Given the description of an element on the screen output the (x, y) to click on. 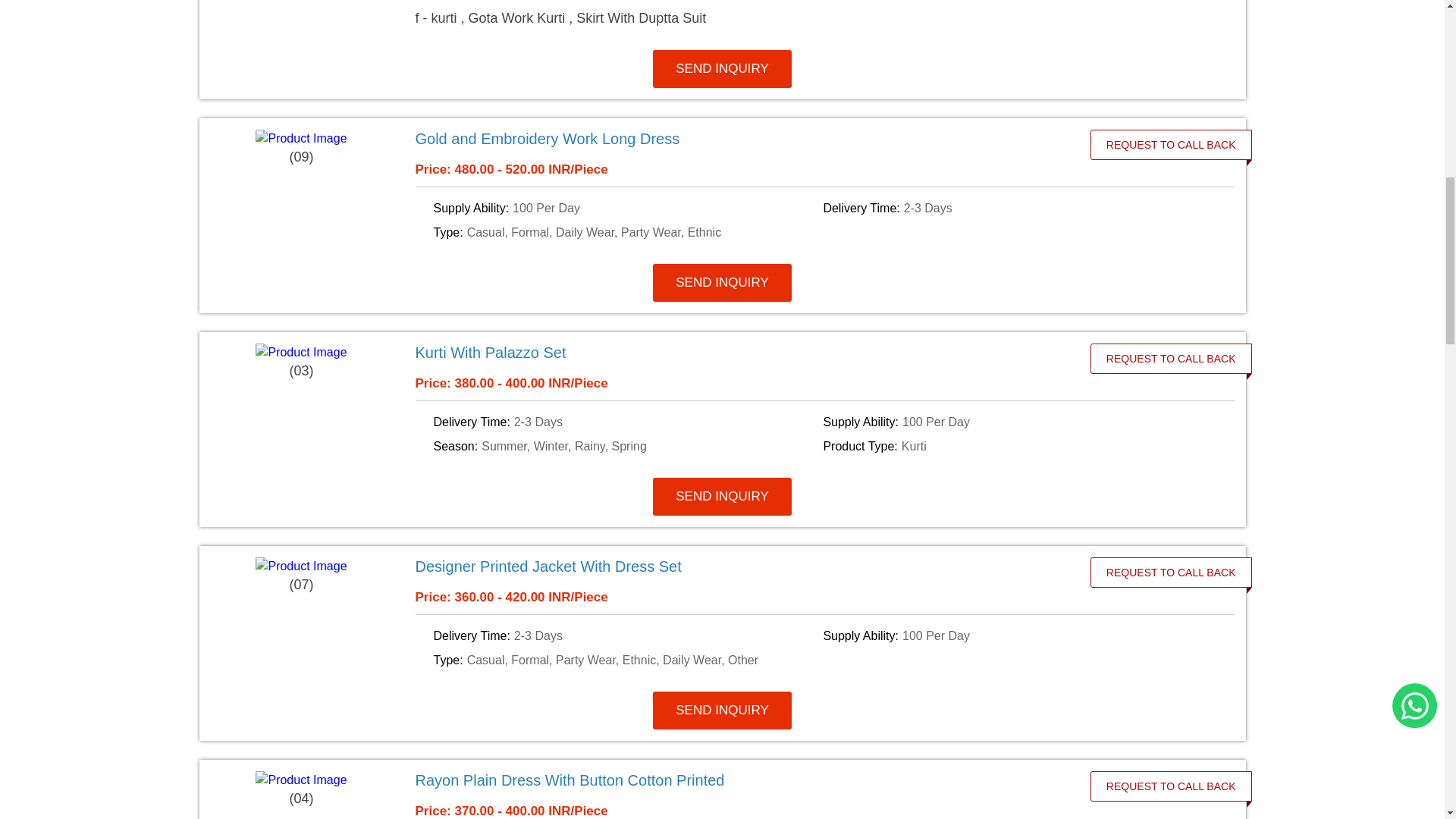
Supply Ability: 100 Per Day (625, 208)
Kurti With Palazzo Set (742, 352)
Type: Casual, Formal, Party Wear, Ethnic, Daily Wear, Other (625, 660)
Delivery Time: 2-3 Days (1014, 208)
Rayon Plain Dress With Button Cotton Printed (742, 780)
Supply Ability: 100 Per Day (1014, 636)
Designer Printed Jacket With Dress Set (742, 566)
Type: Casual, Formal, Daily Wear, Party Wear, Ethnic (625, 232)
Product Type: Kurti (1014, 446)
Season: Summer, Winter, Rainy, Spring (625, 446)
